Given the description of an element on the screen output the (x, y) to click on. 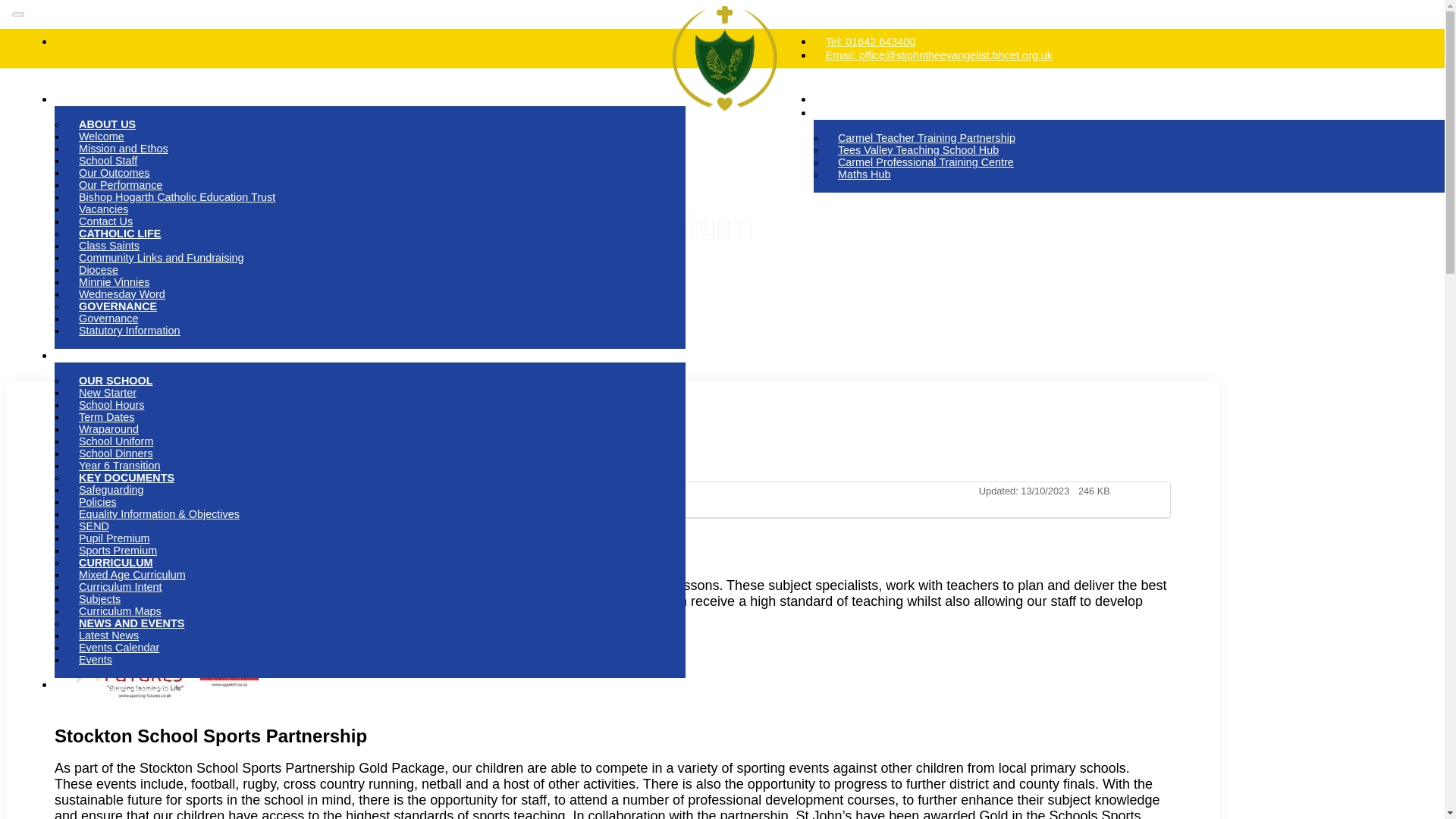
New Starter (107, 392)
Vacancies (102, 209)
Wraparound (108, 428)
Diocese (98, 269)
WE ARE ST JOHN THE EVANGELIST (160, 98)
ABOUT US (107, 124)
Tel: 01642 643400 (870, 41)
Community Links and Fundraising (161, 257)
School Dinners (115, 453)
OUR SCHOOL (115, 380)
Welcome (101, 136)
Year 6 Transition (118, 465)
Sports Premium (117, 550)
Governance (107, 318)
GOVERNANCE (117, 306)
